Given the description of an element on the screen output the (x, y) to click on. 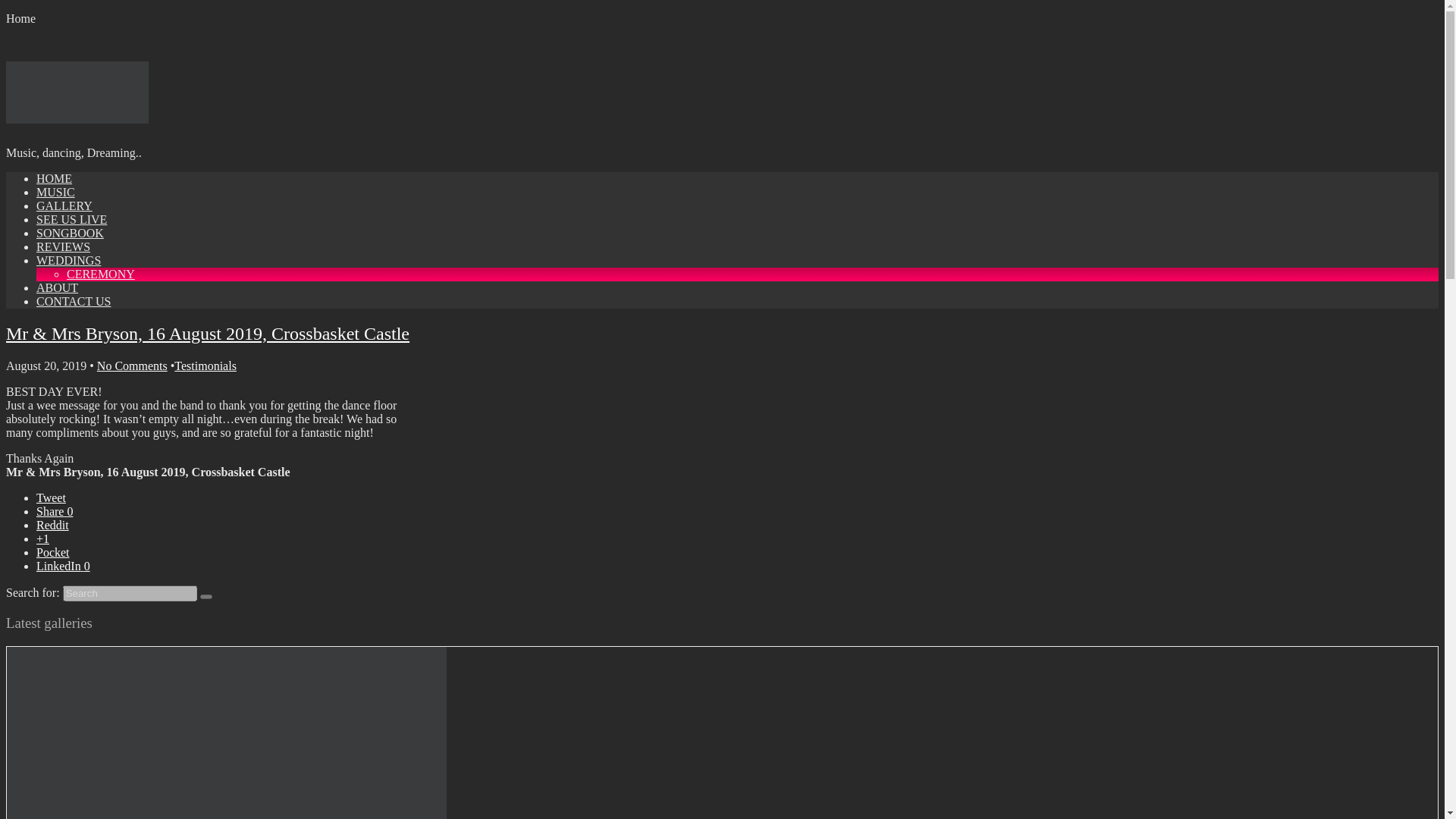
GO (206, 596)
REVIEWS (63, 246)
No Comments (132, 365)
Submit to Reddit (52, 524)
Testimonials (204, 365)
Pocket (52, 552)
CEREMONY (100, 273)
Reddit (52, 524)
SONGBOOK (69, 232)
HOME (53, 178)
Share on Linkedin (63, 565)
Tweet (50, 497)
LinkedIn 0 (63, 565)
CONTACT US (73, 300)
Save to read later on Pocket (52, 552)
